Given the description of an element on the screen output the (x, y) to click on. 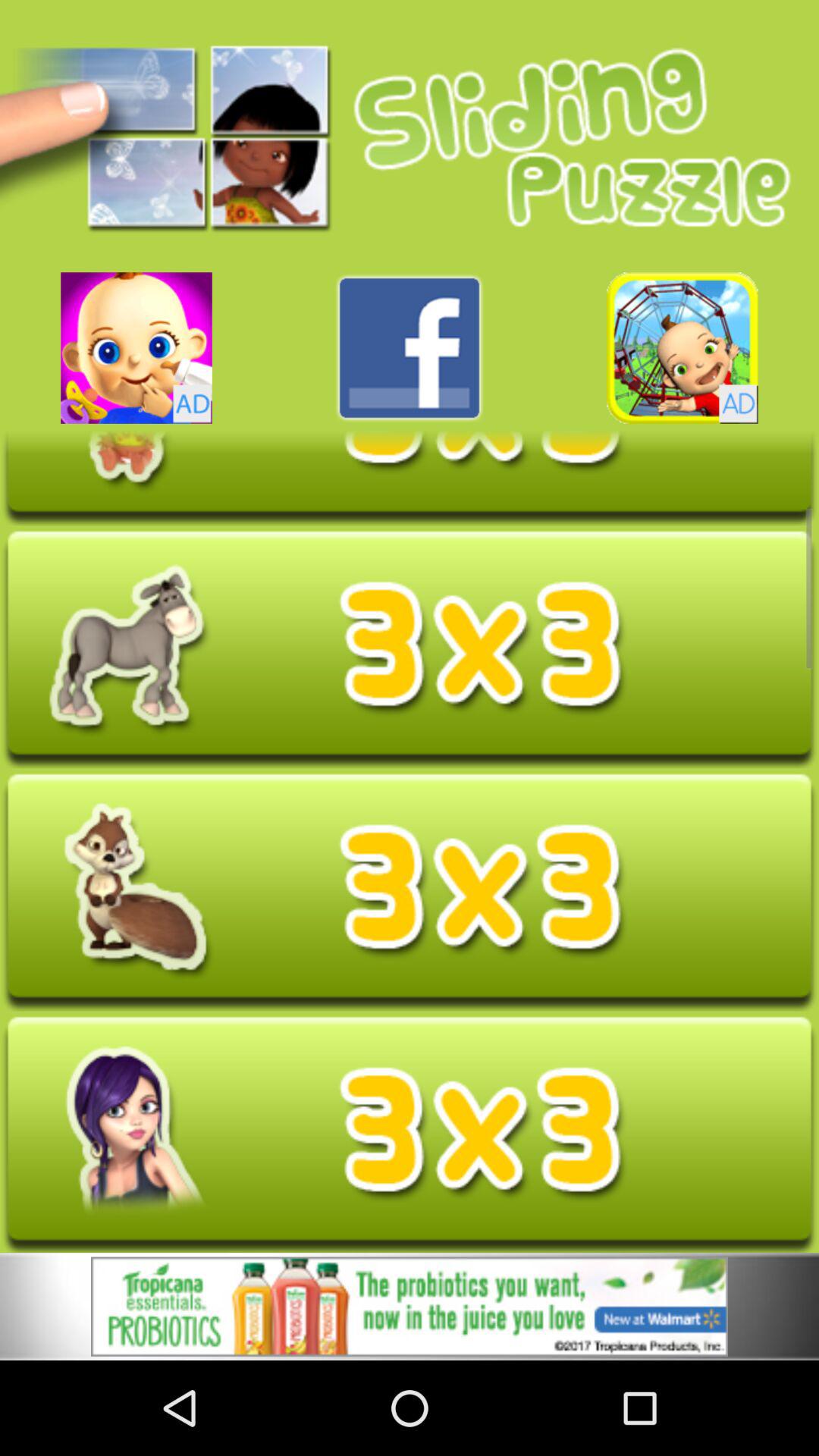
three times three (409, 477)
